Given the description of an element on the screen output the (x, y) to click on. 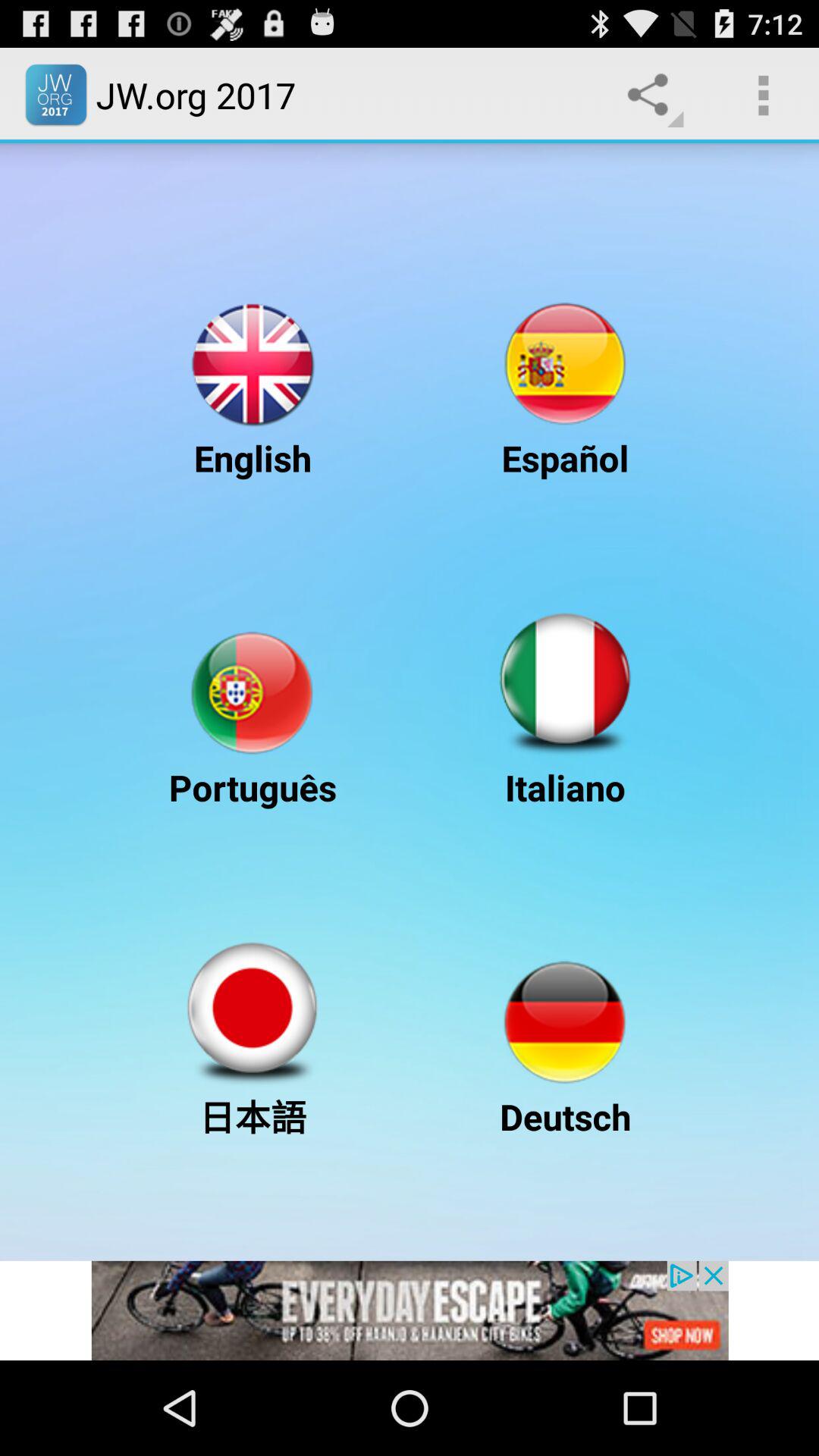
advertisement page (409, 1310)
